Given the description of an element on the screen output the (x, y) to click on. 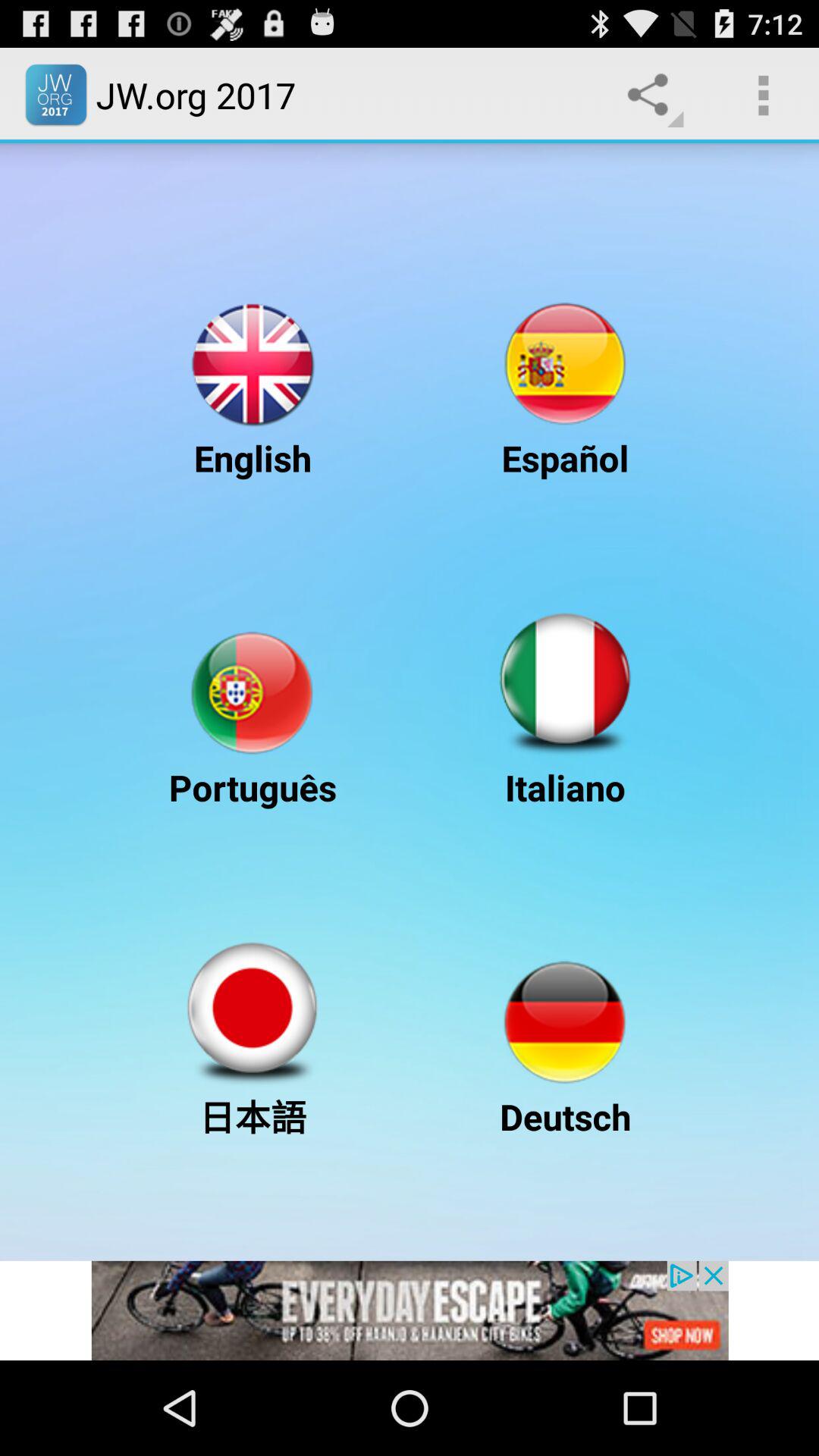
advertisement page (409, 1310)
